Given the description of an element on the screen output the (x, y) to click on. 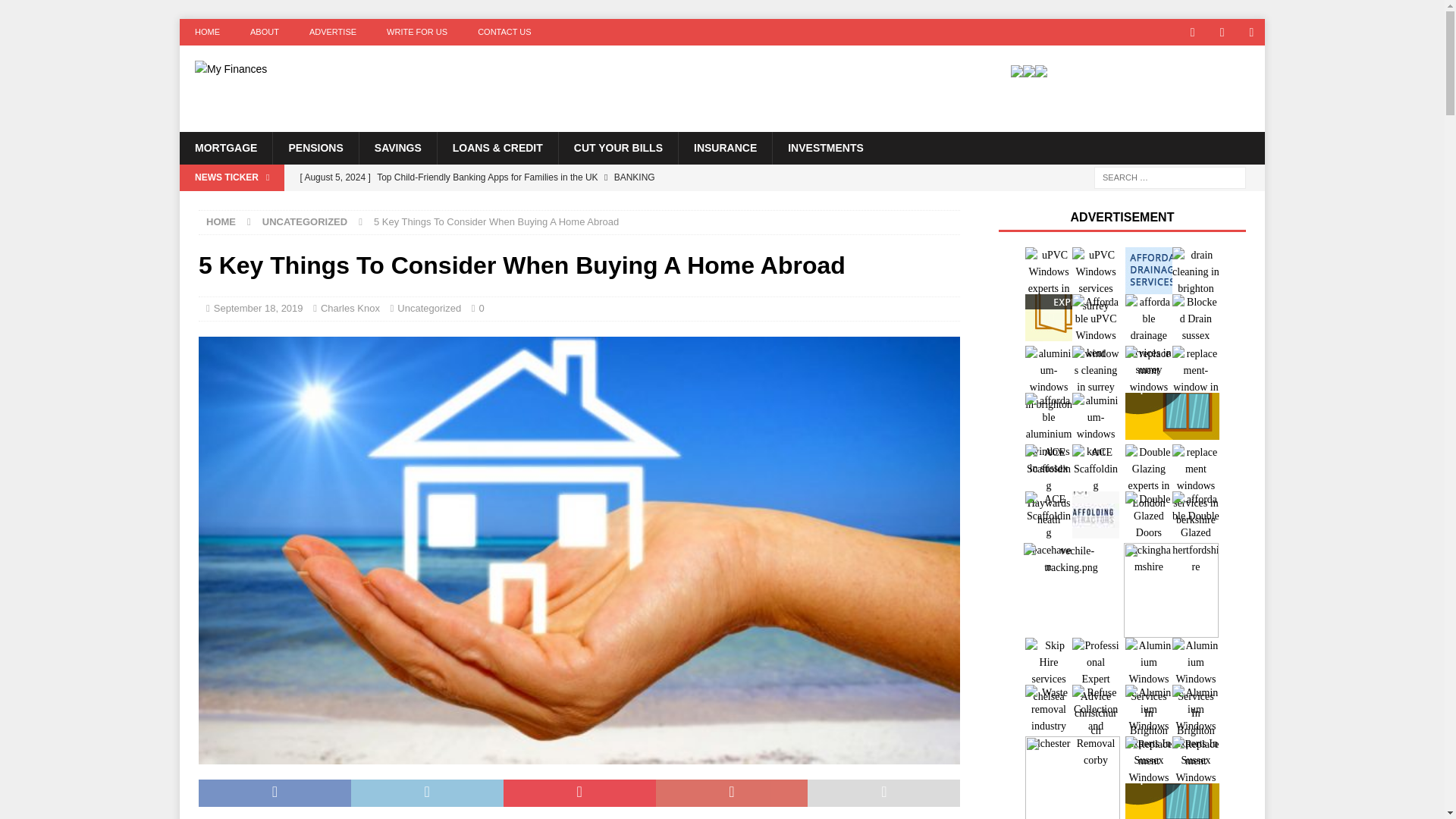
Charles Knox (350, 307)
CUT YOUR BILLS (617, 147)
ADVERTISE (332, 31)
MORTGAGE (225, 147)
Top Child-Friendly Banking Apps for Families in the UK (589, 177)
SAVINGS (397, 147)
INSURANCE (724, 147)
Uncategorized (429, 307)
HOME (206, 31)
CONTACT US (505, 31)
